Given the description of an element on the screen output the (x, y) to click on. 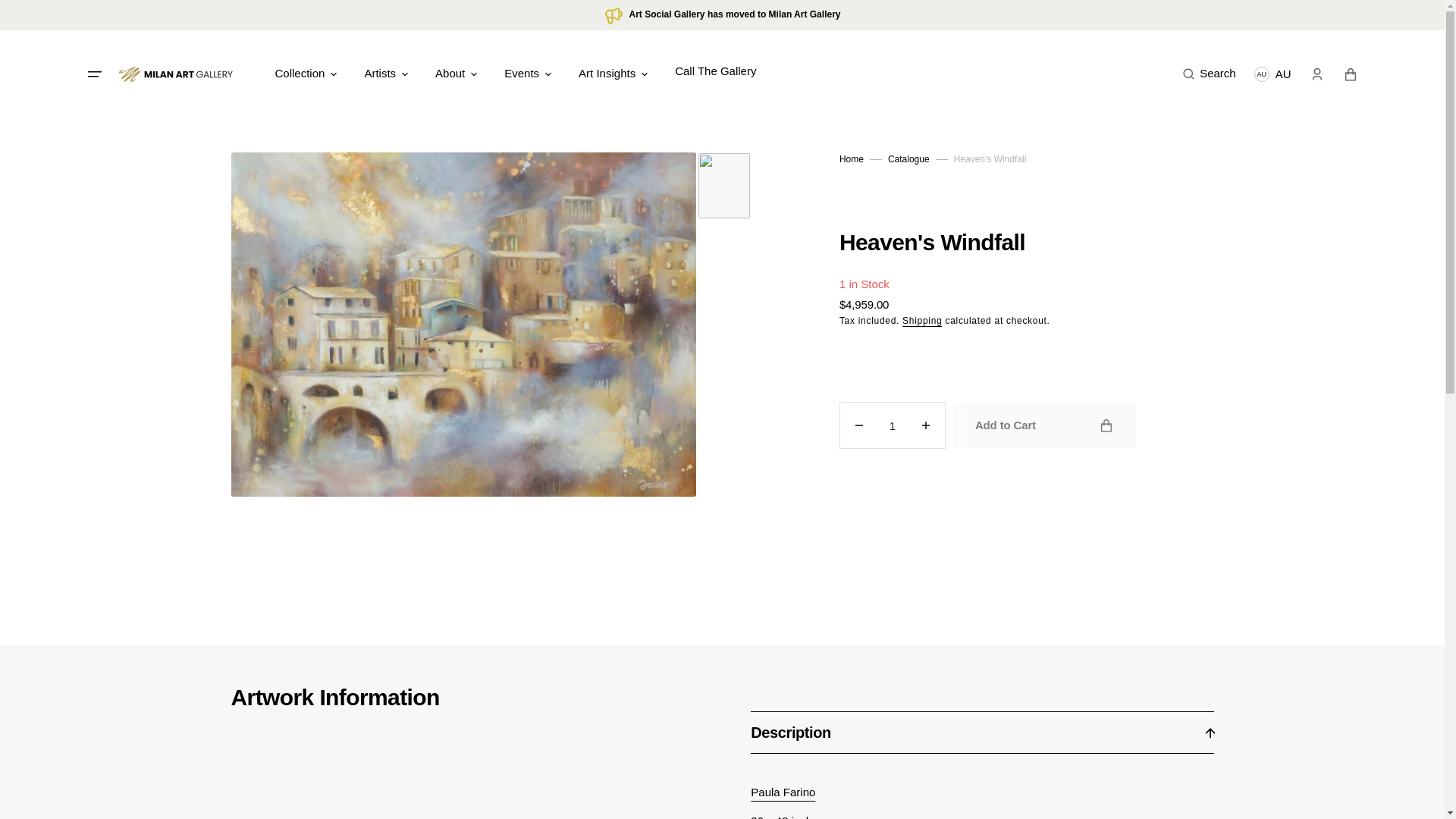
Events (520, 73)
About (449, 73)
Collection (299, 73)
Artists (380, 73)
Search (1217, 73)
Art Insights (606, 73)
Home (851, 159)
Call The Gallery (715, 71)
